Given the description of an element on the screen output the (x, y) to click on. 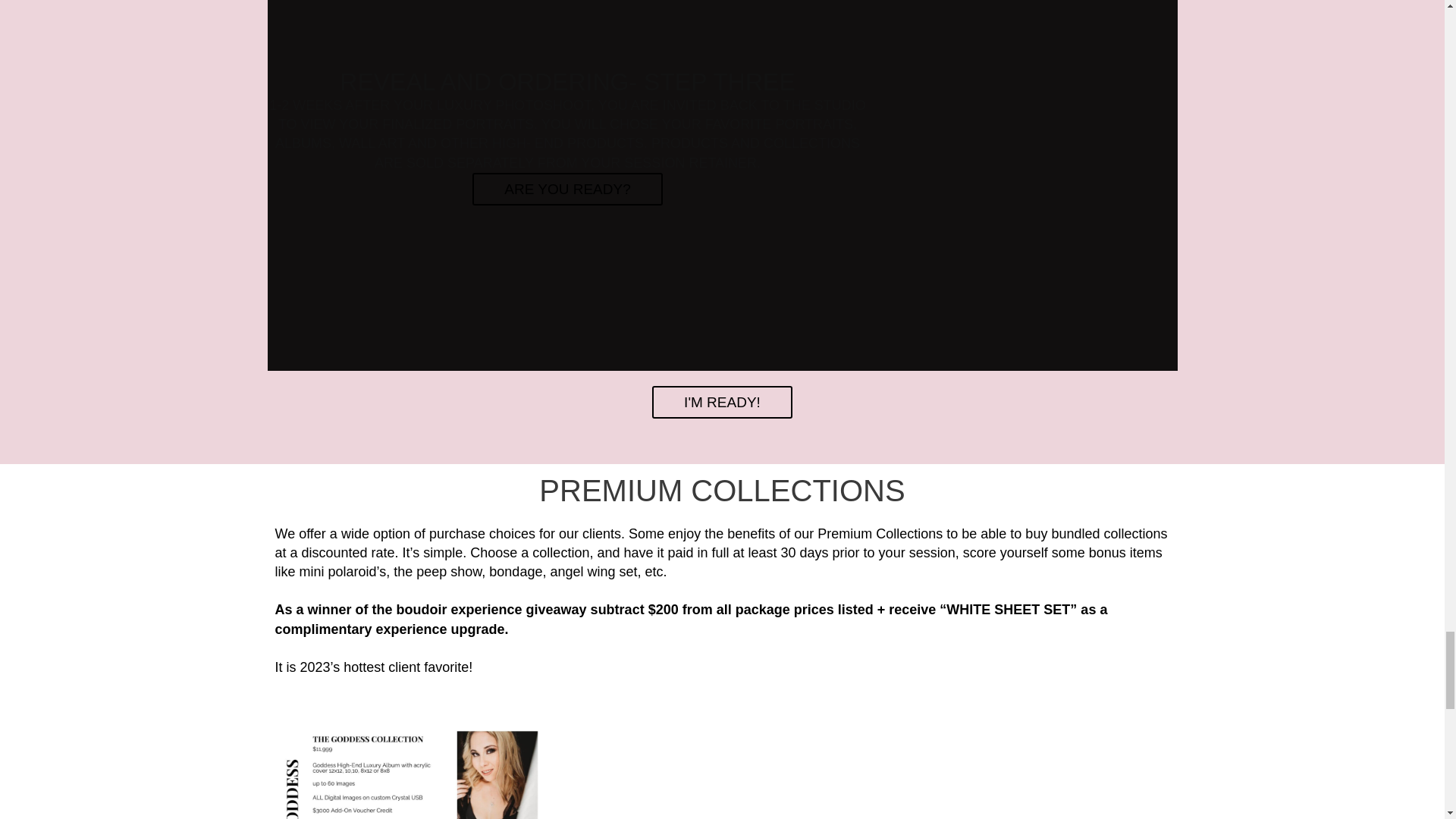
I'M READY! (722, 401)
